Given the description of an element on the screen output the (x, y) to click on. 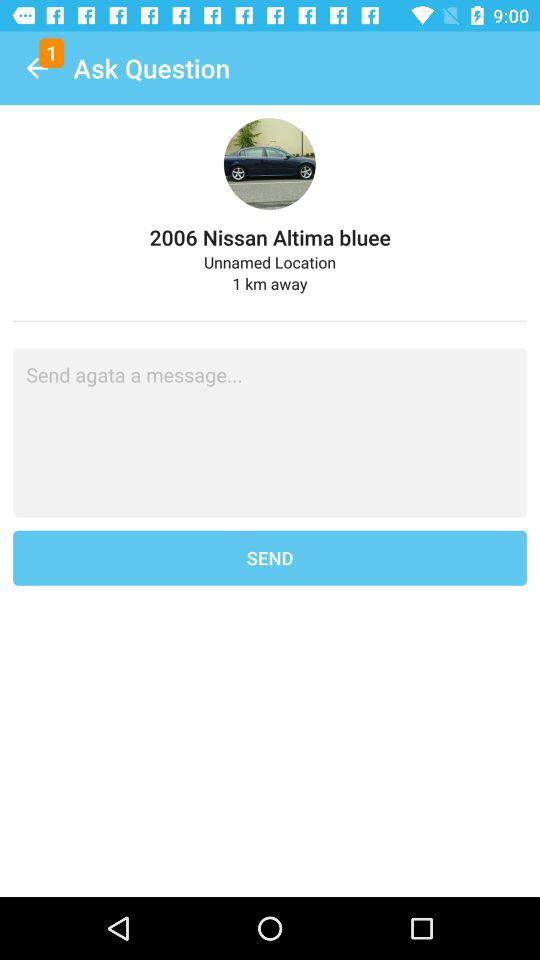
jump to the send item (269, 557)
